Given the description of an element on the screen output the (x, y) to click on. 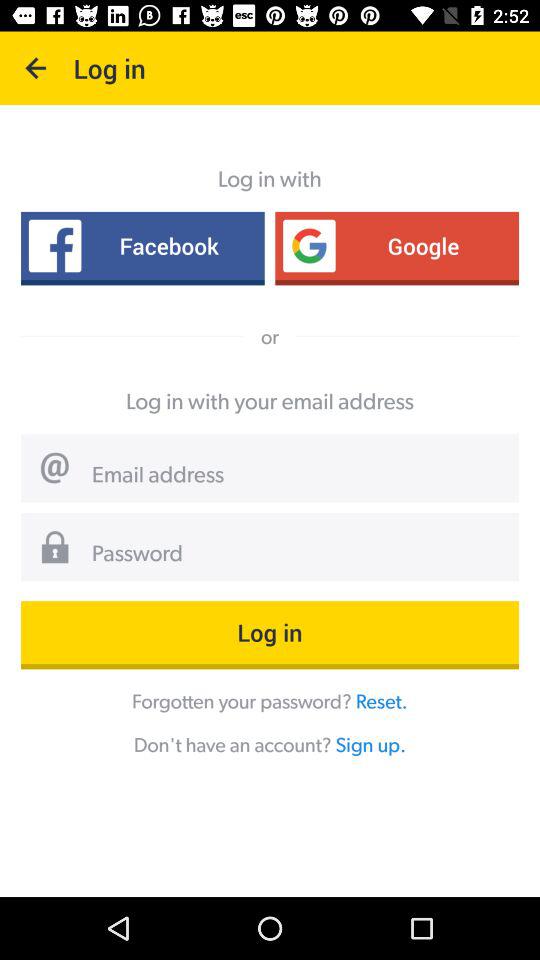
press sign up. icon (370, 744)
